Given the description of an element on the screen output the (x, y) to click on. 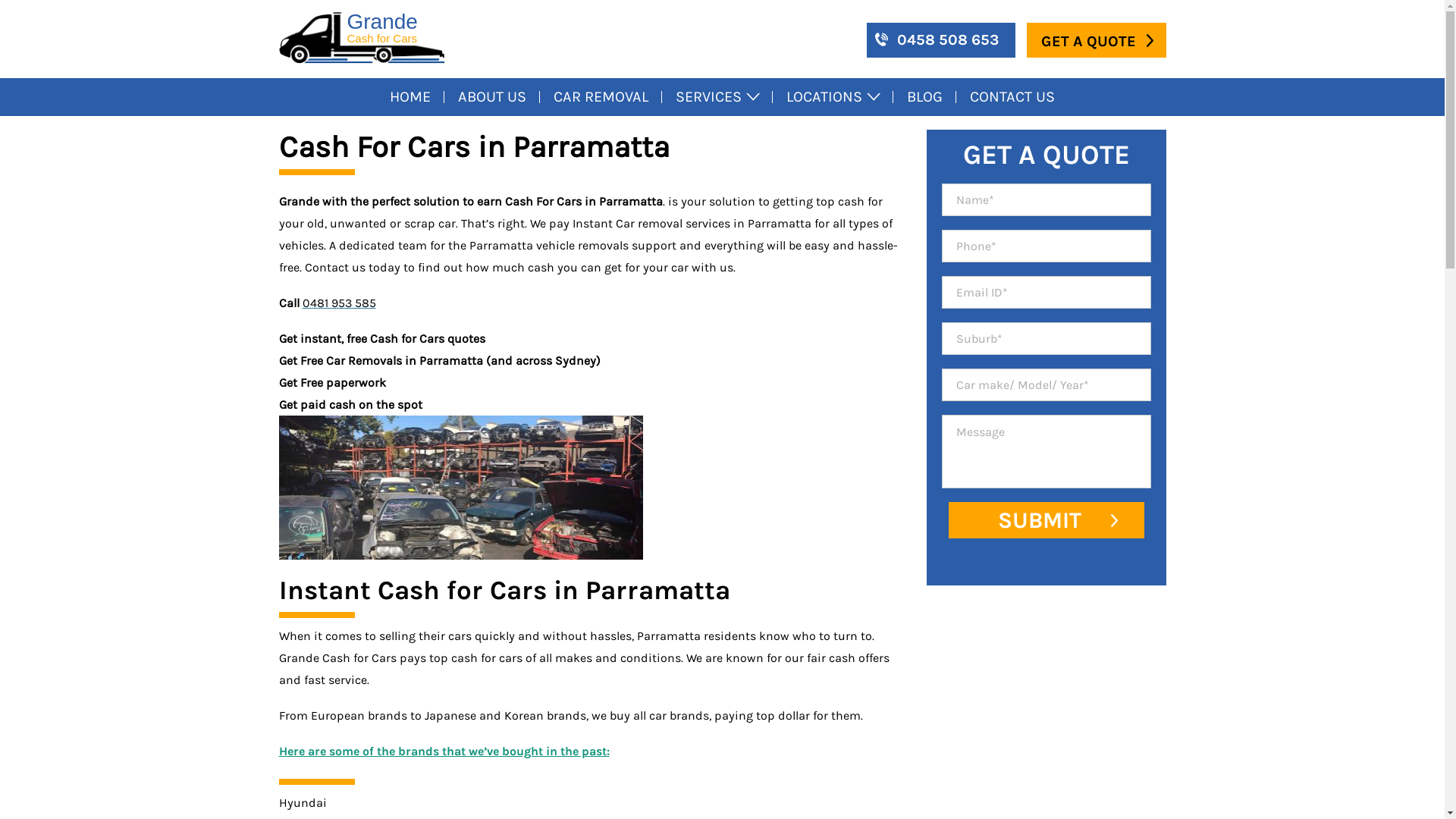
GET A QUOTE Element type: text (1096, 39)
Grande
Cash for Cars Element type: text (362, 37)
CONTACT US Element type: text (1011, 97)
LOCATIONS Element type: text (832, 97)
Cash For Cars in Parramatta Element type: hover (461, 487)
BLOG Element type: text (924, 97)
SERVICES Element type: text (717, 97)
HOME Element type: text (409, 97)
ABOUT US Element type: text (492, 97)
Submit Element type: text (1046, 520)
0458 508 653 Element type: text (940, 39)
CAR REMOVAL Element type: text (600, 97)
Grande Cash for Car Element type: hover (362, 37)
0481 953 585 Element type: text (338, 302)
